Given the description of an element on the screen output the (x, y) to click on. 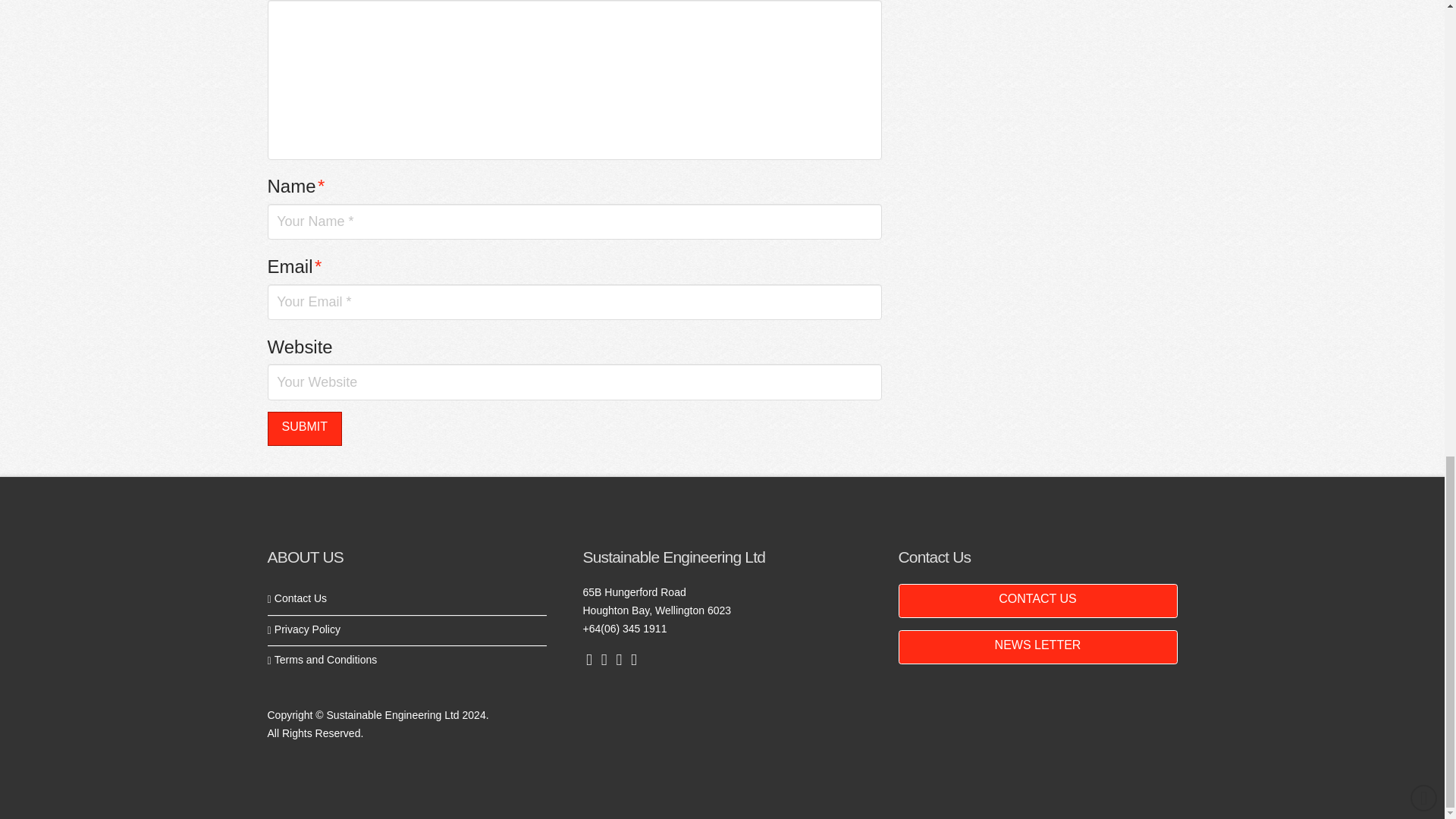
Submit (303, 428)
